Given the description of an element on the screen output the (x, y) to click on. 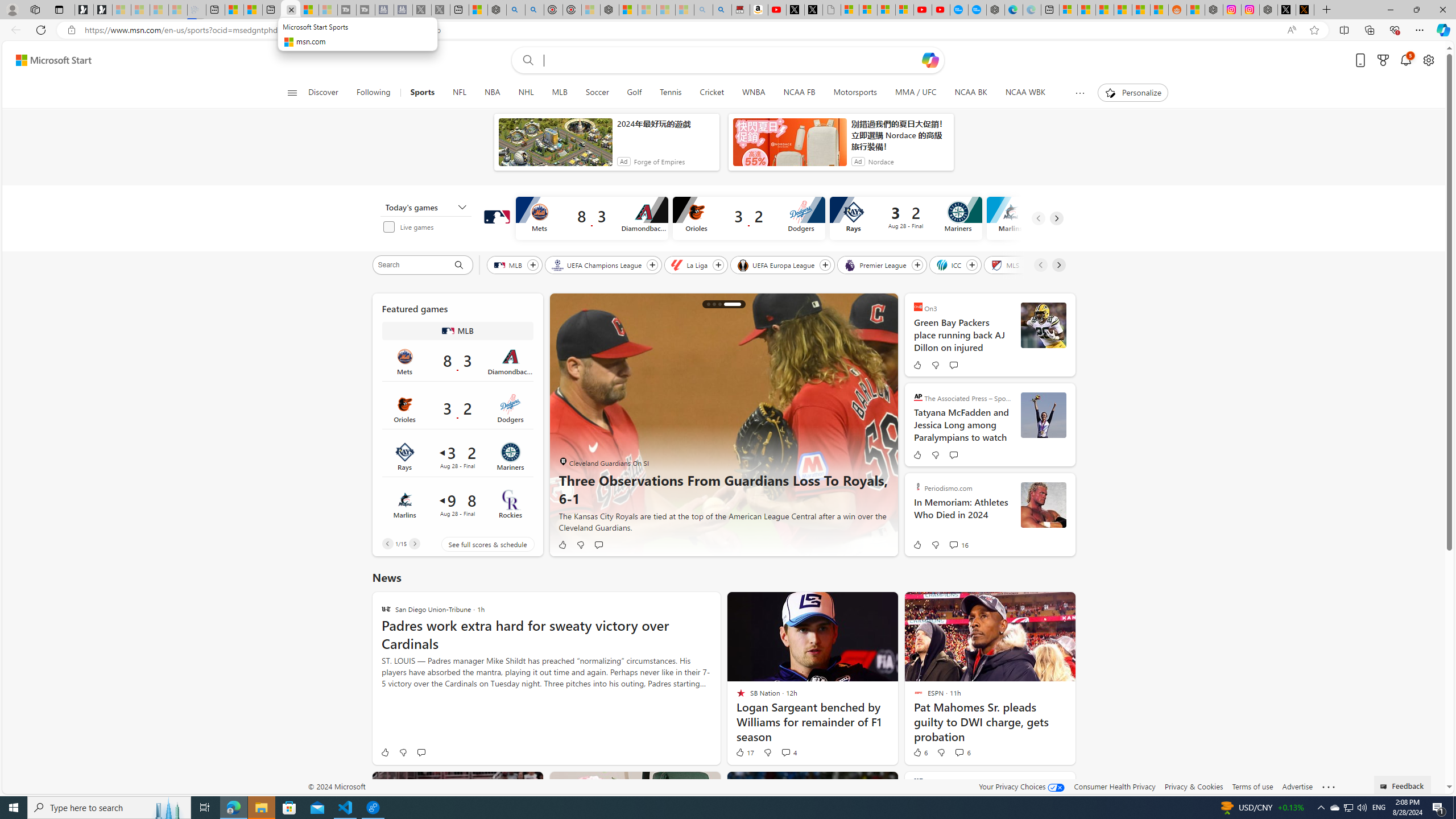
NHL (526, 92)
Orioles 3 vs Dodgers 2Time 10:10 AM  (456, 409)
MLB MLB (456, 330)
Class: feedback_link_icon-DS-EntryPoint1-1 (1384, 786)
next (882, 425)
Follow Premier League (917, 265)
